Given the description of an element on the screen output the (x, y) to click on. 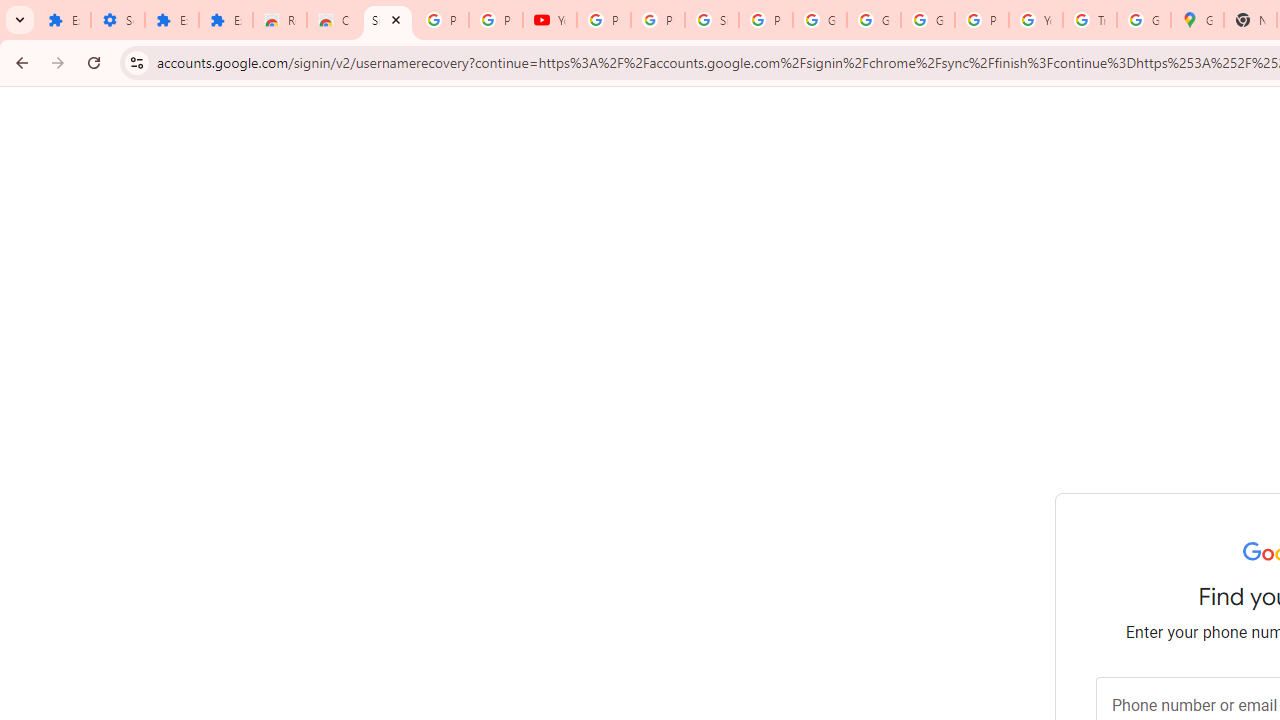
Extensions (63, 20)
Sign in - Google Accounts (711, 20)
Extensions (225, 20)
Sign in - Google Accounts (387, 20)
